Given the description of an element on the screen output the (x, y) to click on. 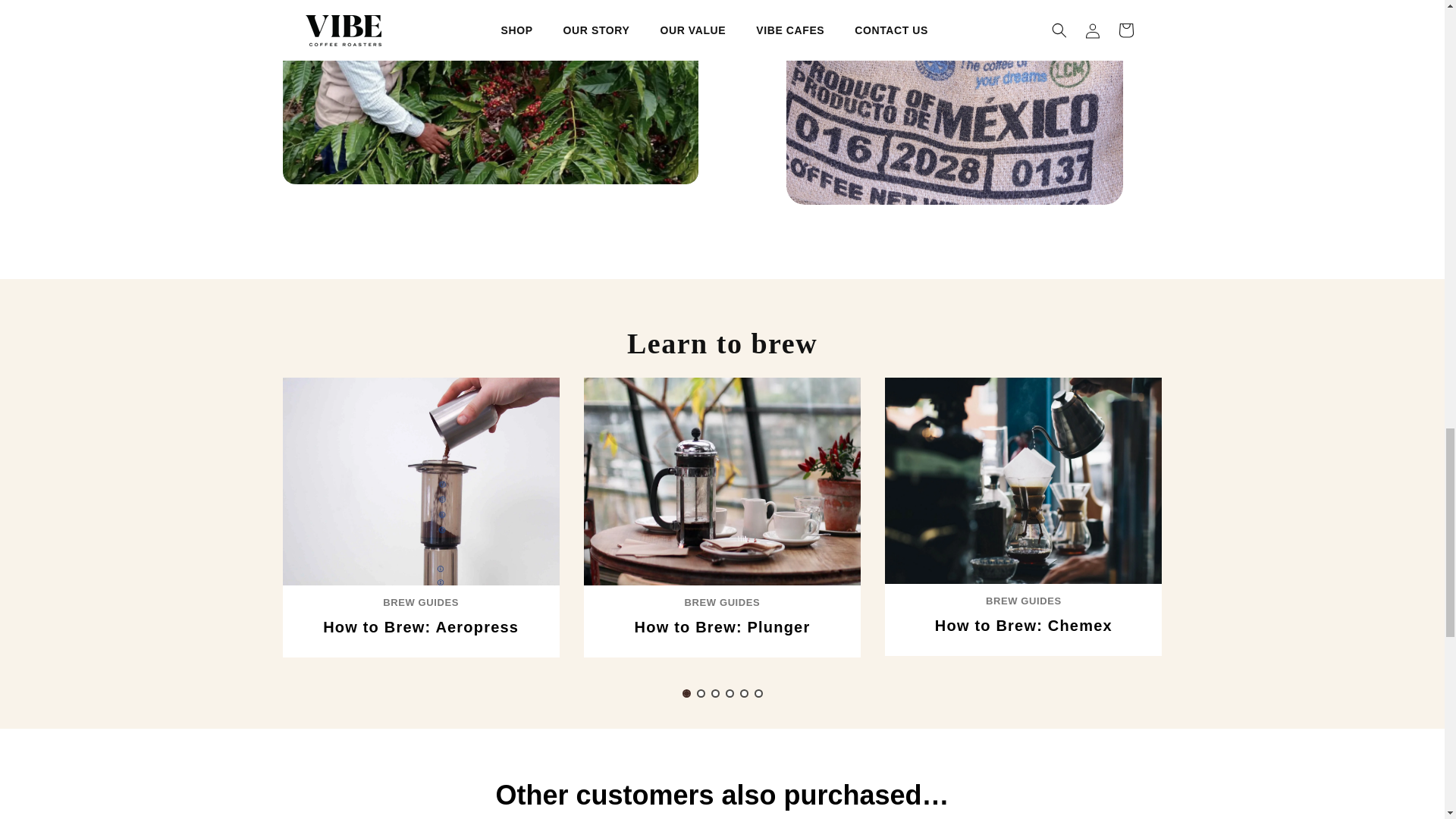
BREW GUIDES (420, 601)
How to Brew: Aeropress (420, 627)
How to Brew: Plunger (722, 627)
BREW GUIDES (722, 601)
